Given the description of an element on the screen output the (x, y) to click on. 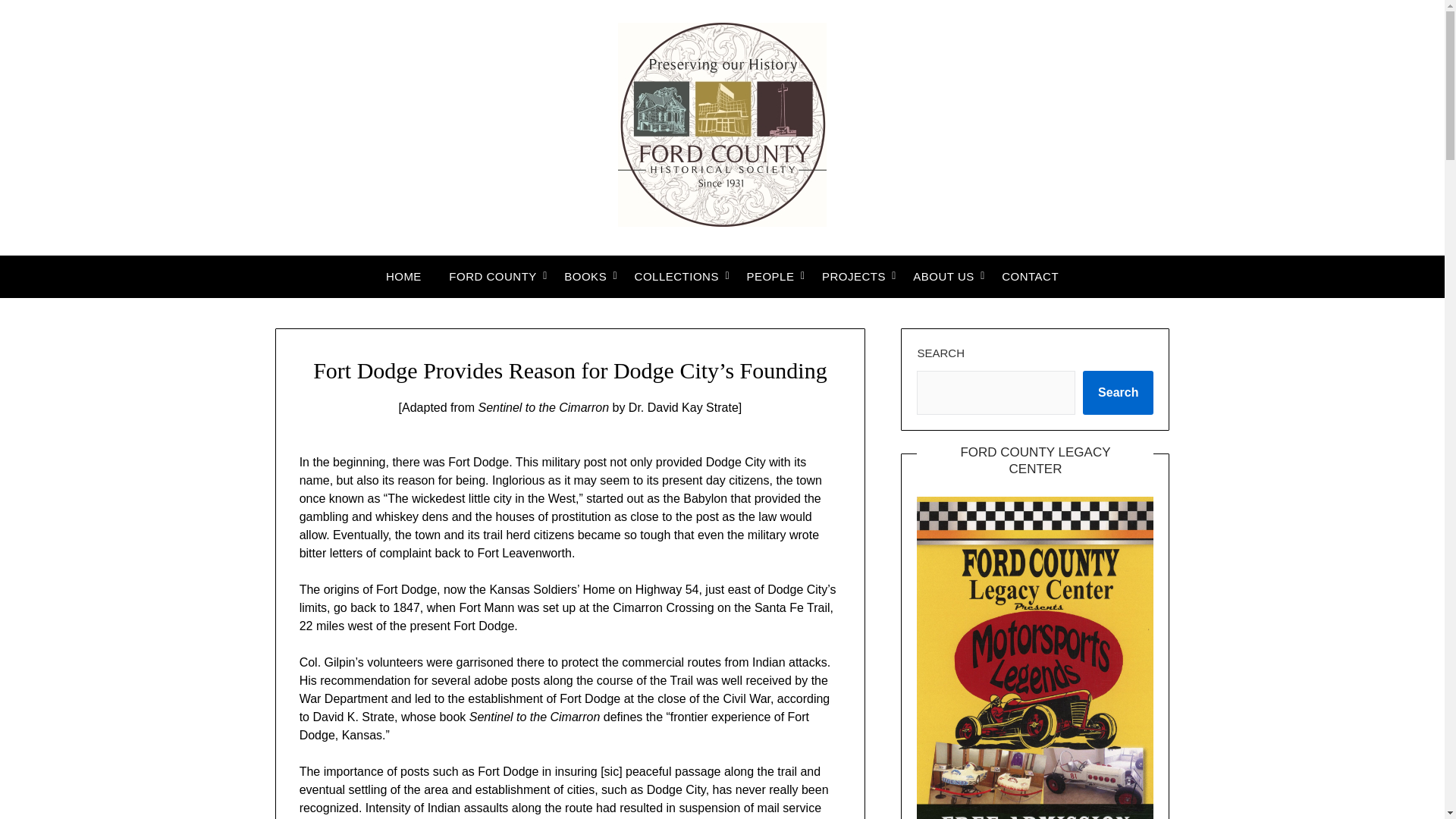
HOME (403, 276)
FORD COUNTY (492, 276)
